Given the description of an element on the screen output the (x, y) to click on. 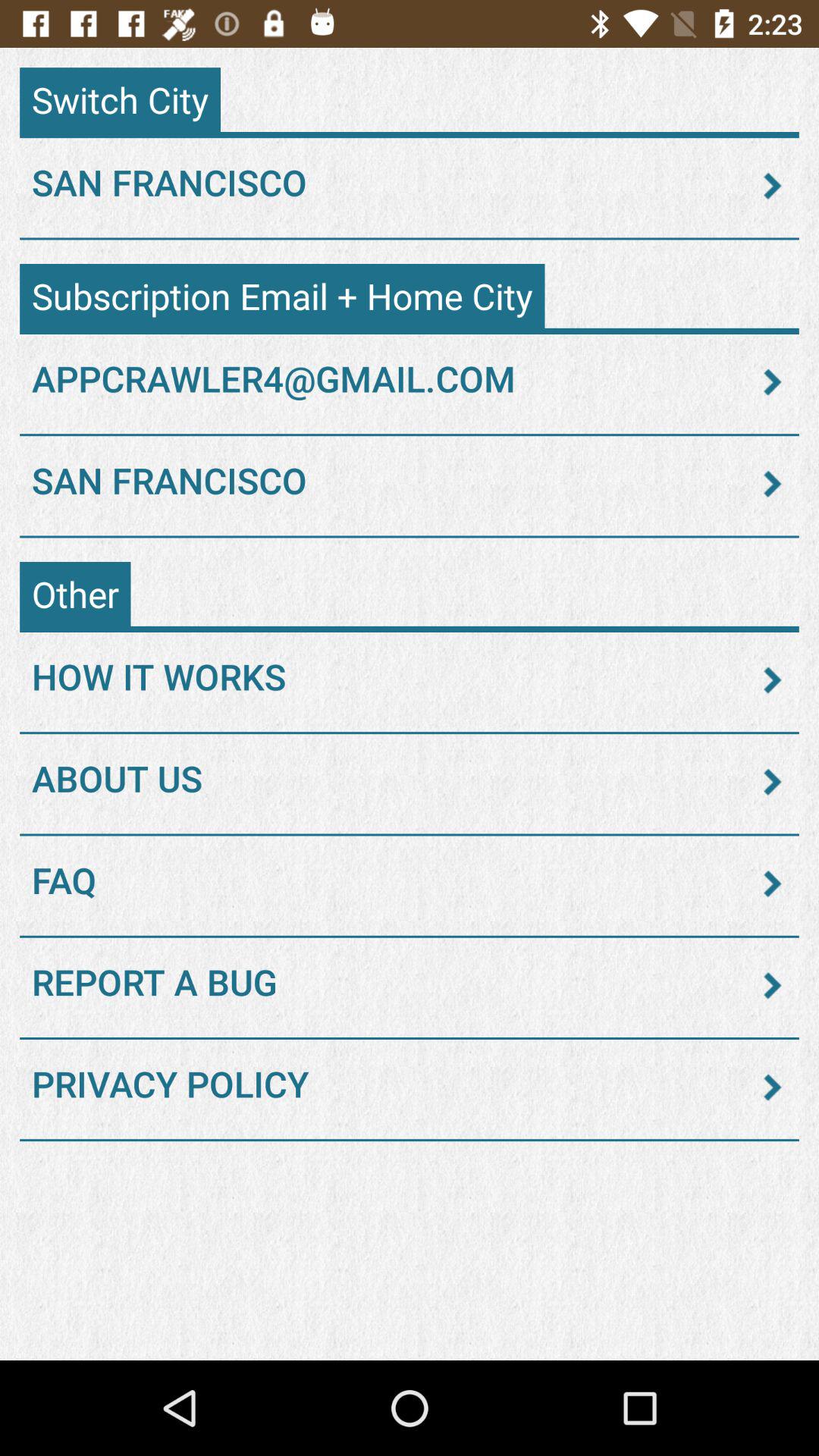
swipe to about us icon (409, 781)
